Given the description of an element on the screen output the (x, y) to click on. 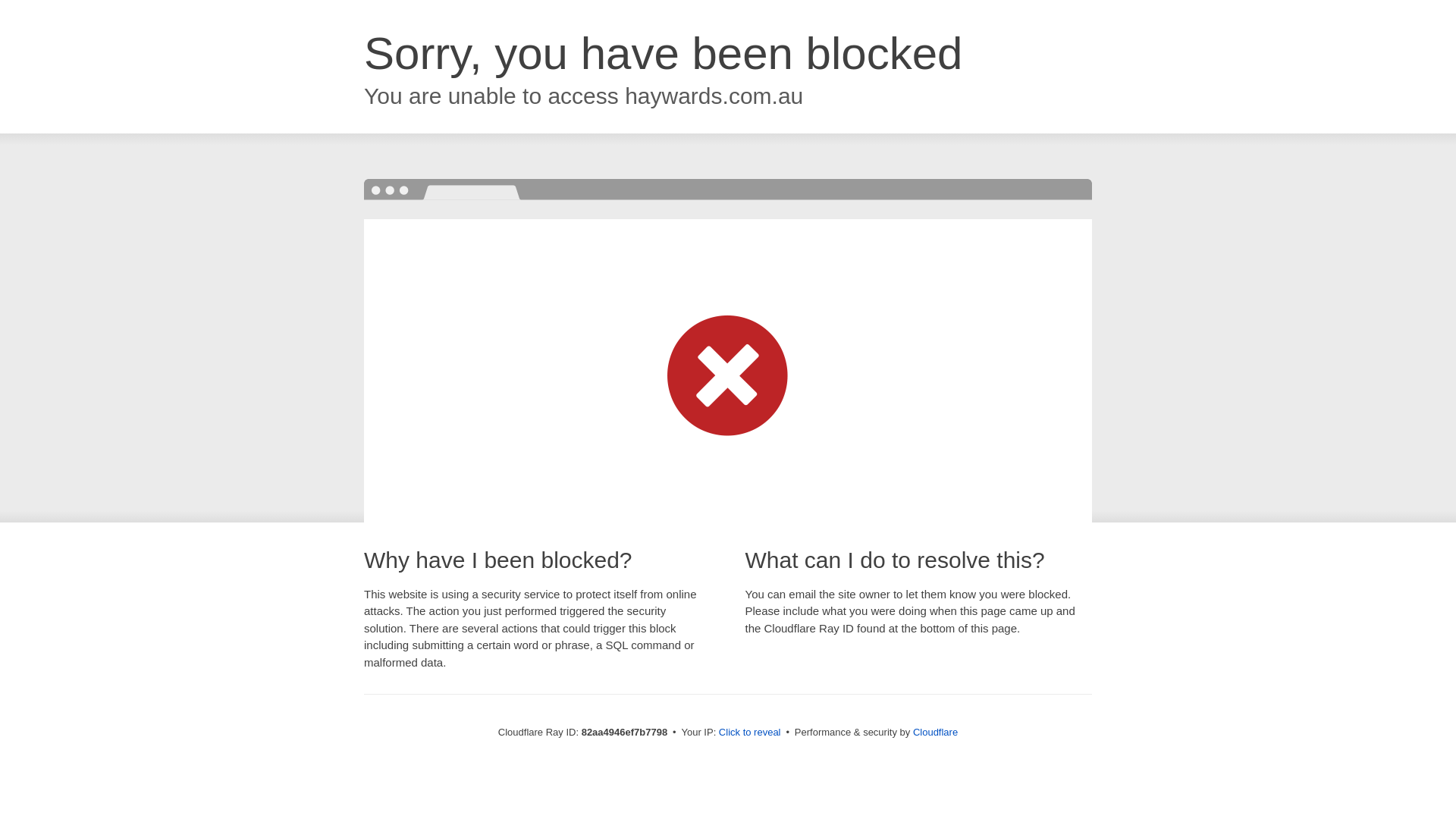
Cloudflare Element type: text (935, 731)
Click to reveal Element type: text (749, 732)
